Given the description of an element on the screen output the (x, y) to click on. 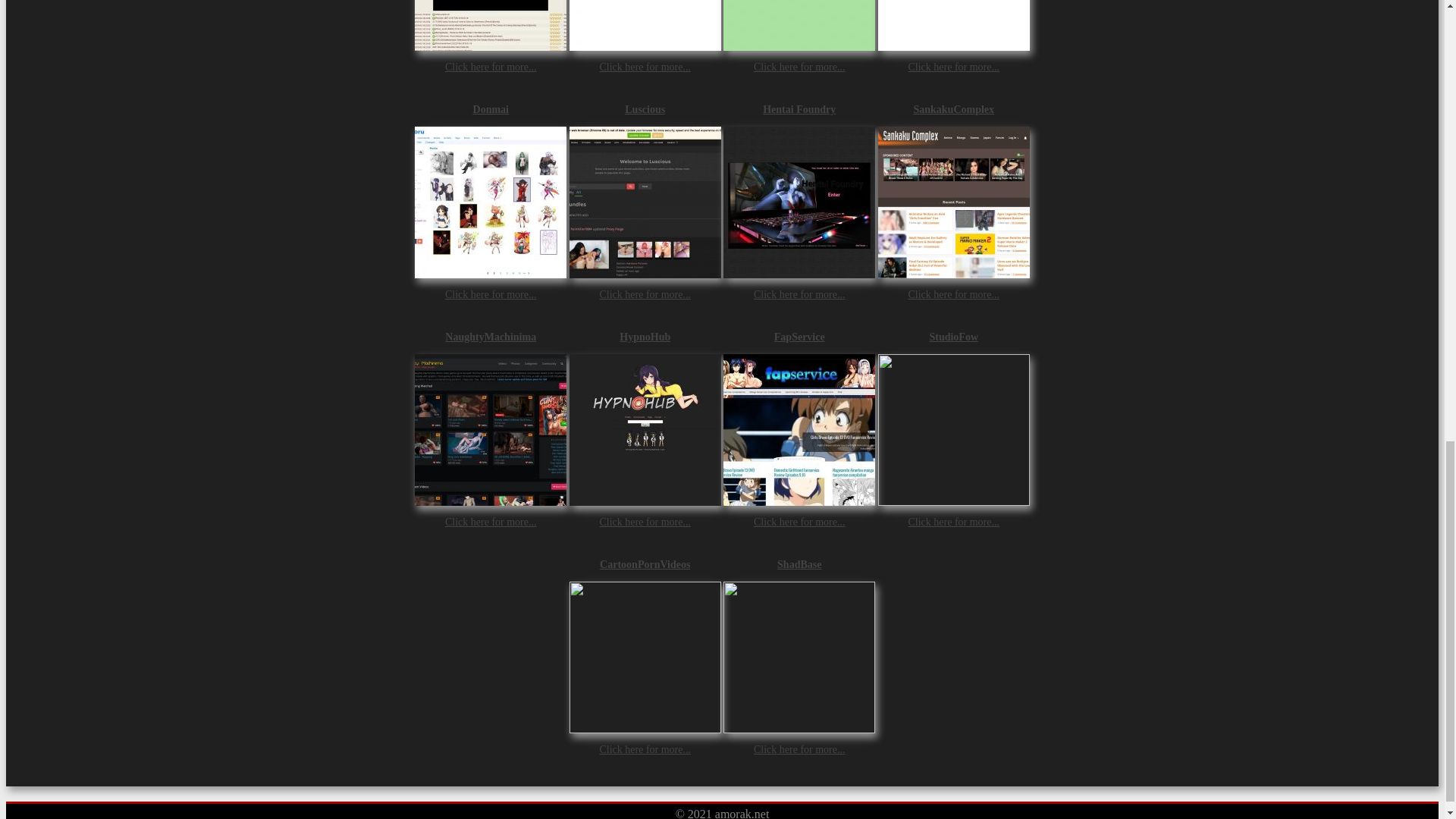
NaughtyMachinima (490, 336)
Click here for more... (644, 293)
Click here for more... (644, 521)
Click here for more... (491, 293)
Click here for more... (491, 66)
Click here for more... (799, 293)
StudioFow (953, 336)
Luscious (644, 109)
SankakuComplex (953, 109)
Click here for more... (952, 66)
Click here for more... (952, 293)
Donmai (490, 109)
Hentai Foundry (799, 109)
Click here for more... (491, 521)
Click here for more... (799, 66)
